Given the description of an element on the screen output the (x, y) to click on. 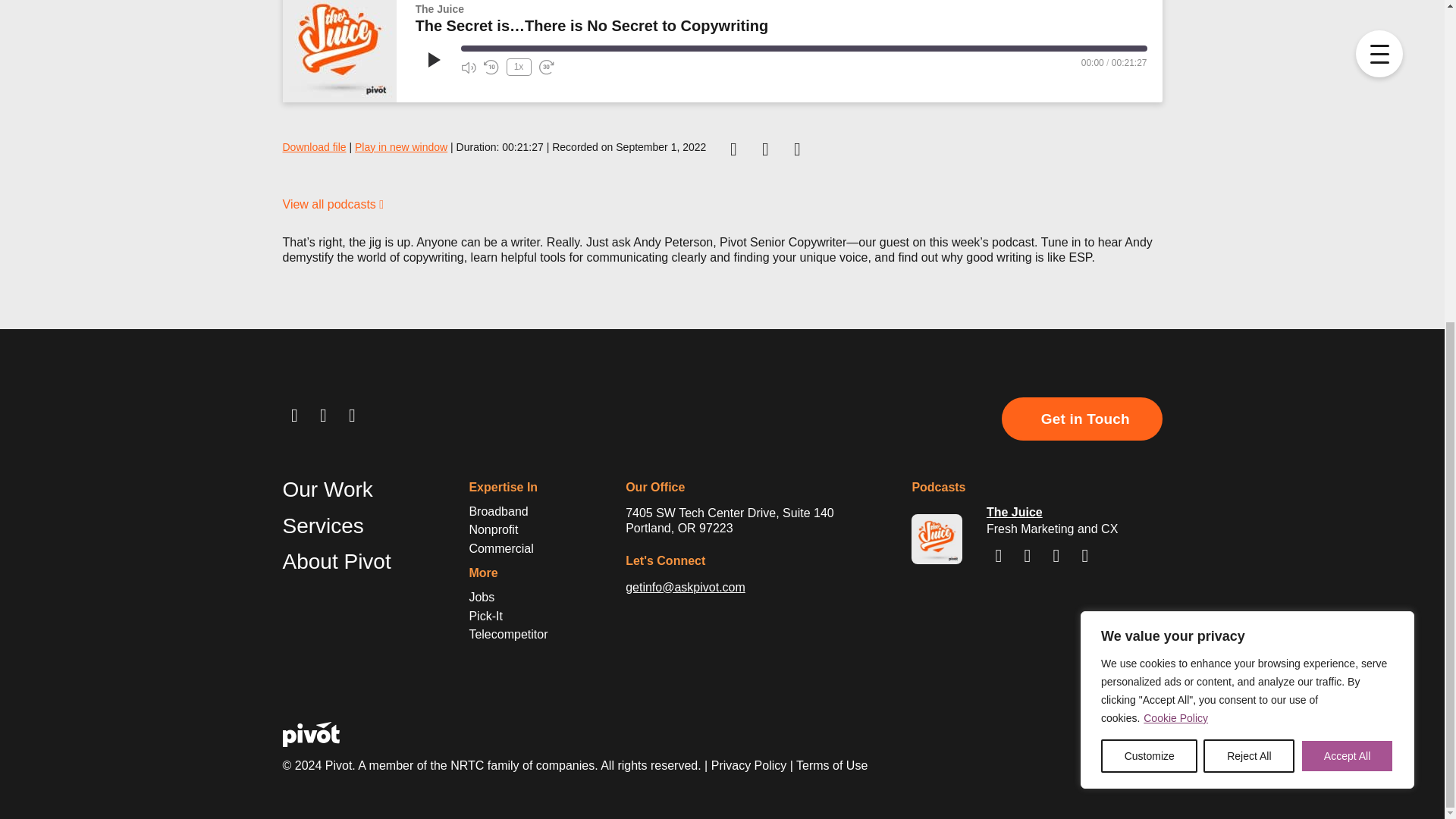
The Juice (339, 51)
Share (548, 88)
Play (431, 59)
Customize (1148, 230)
Rewind 10 seconds (491, 67)
Playback Speed (518, 67)
Reject All (1249, 230)
Subscribe (488, 88)
Accept All (1346, 230)
